Given the description of an element on the screen output the (x, y) to click on. 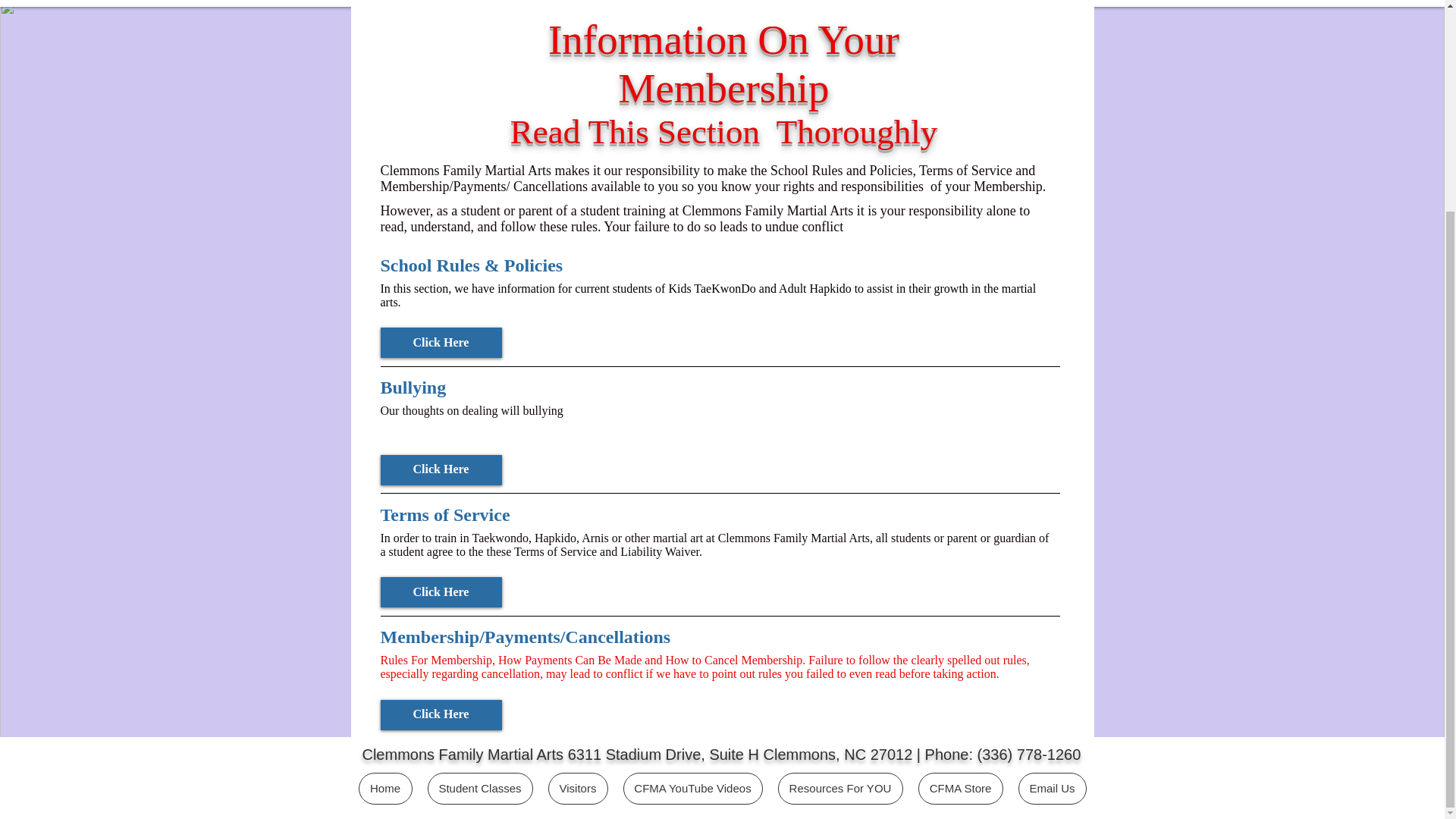
Terms of Service (719, 515)
Click Here (441, 592)
Home (385, 788)
Click Here (441, 342)
Click Here (441, 715)
Click Here (441, 470)
